Given the description of an element on the screen output the (x, y) to click on. 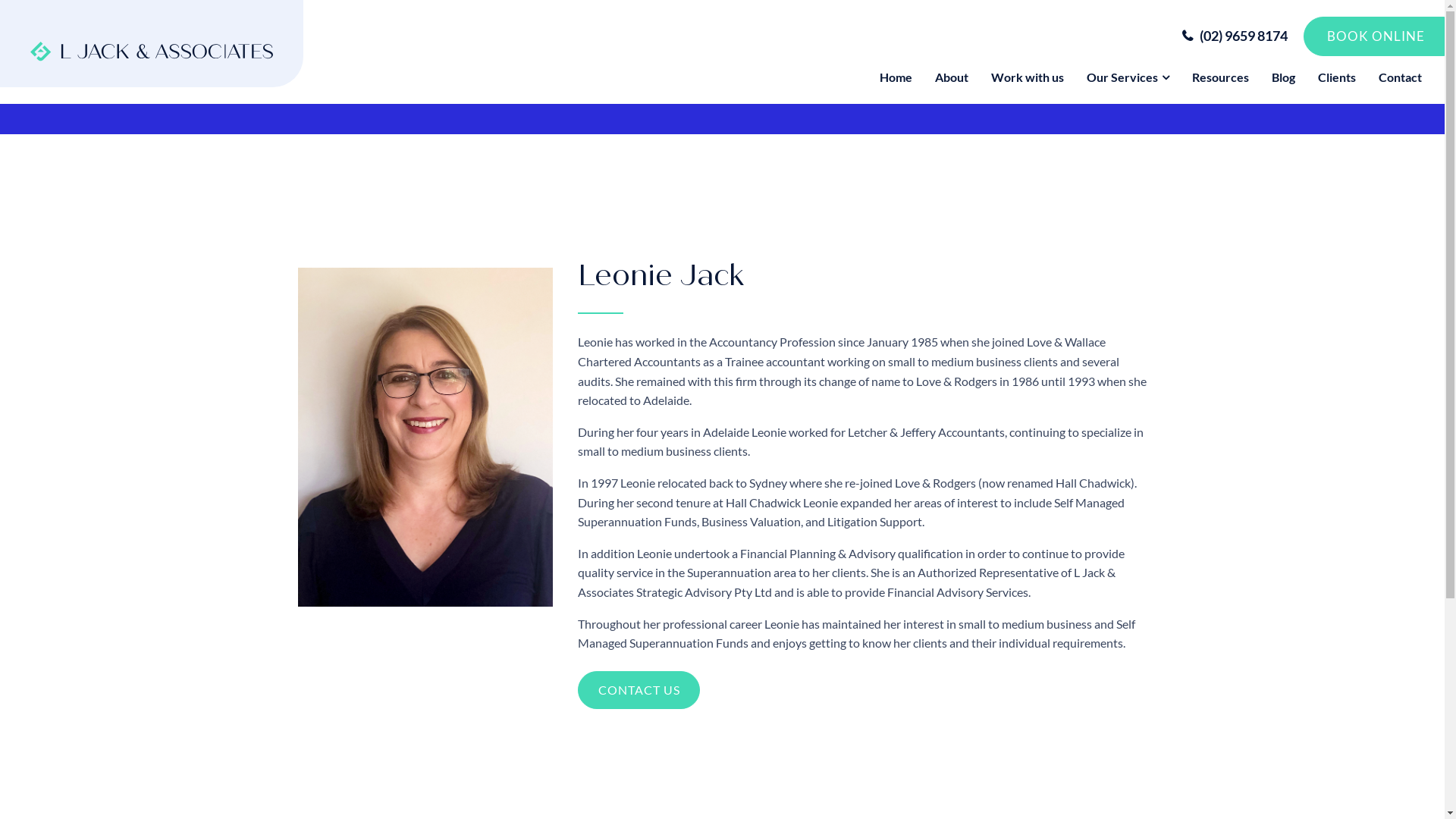
Resources Element type: text (1220, 76)
Clients Element type: text (1336, 76)
BOOK ONLINE Element type: text (1373, 36)
Contact Element type: text (1400, 76)
Our Services Element type: text (1127, 76)
CONTACT US Element type: text (638, 690)
Work with us Element type: text (1027, 76)
About Element type: text (951, 76)
Home Element type: text (895, 76)
Blog Element type: text (1283, 76)
